Given the description of an element on the screen output the (x, y) to click on. 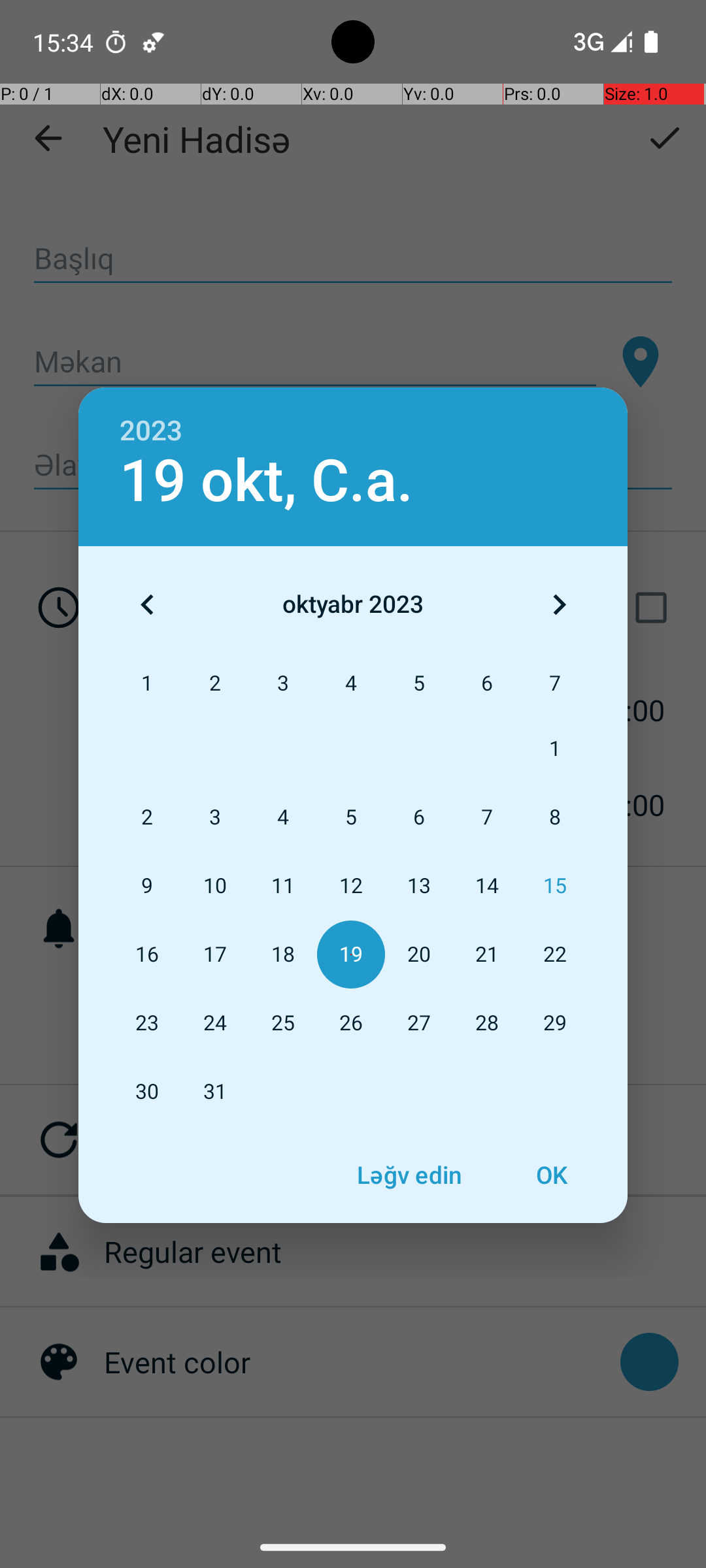
19 okt, C.a. Element type: android.widget.TextView (266, 480)
Keçən ay Element type: android.widget.ImageButton (146, 604)
Gələn ay Element type: android.widget.ImageButton (558, 604)
Ləğv edin Element type: android.widget.Button (409, 1174)
